Given the description of an element on the screen output the (x, y) to click on. 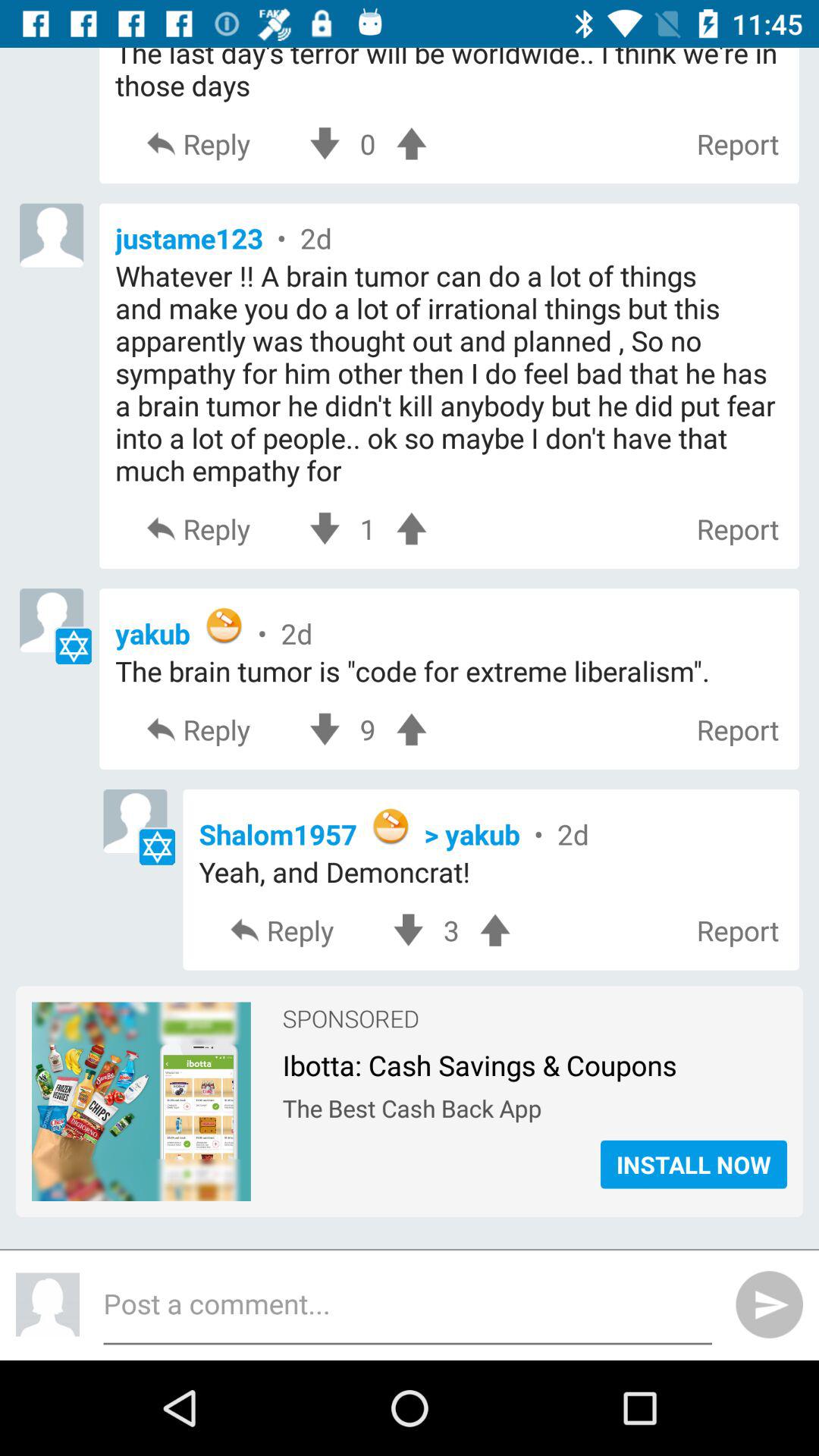
scroll until the 1 item (367, 528)
